Given the description of an element on the screen output the (x, y) to click on. 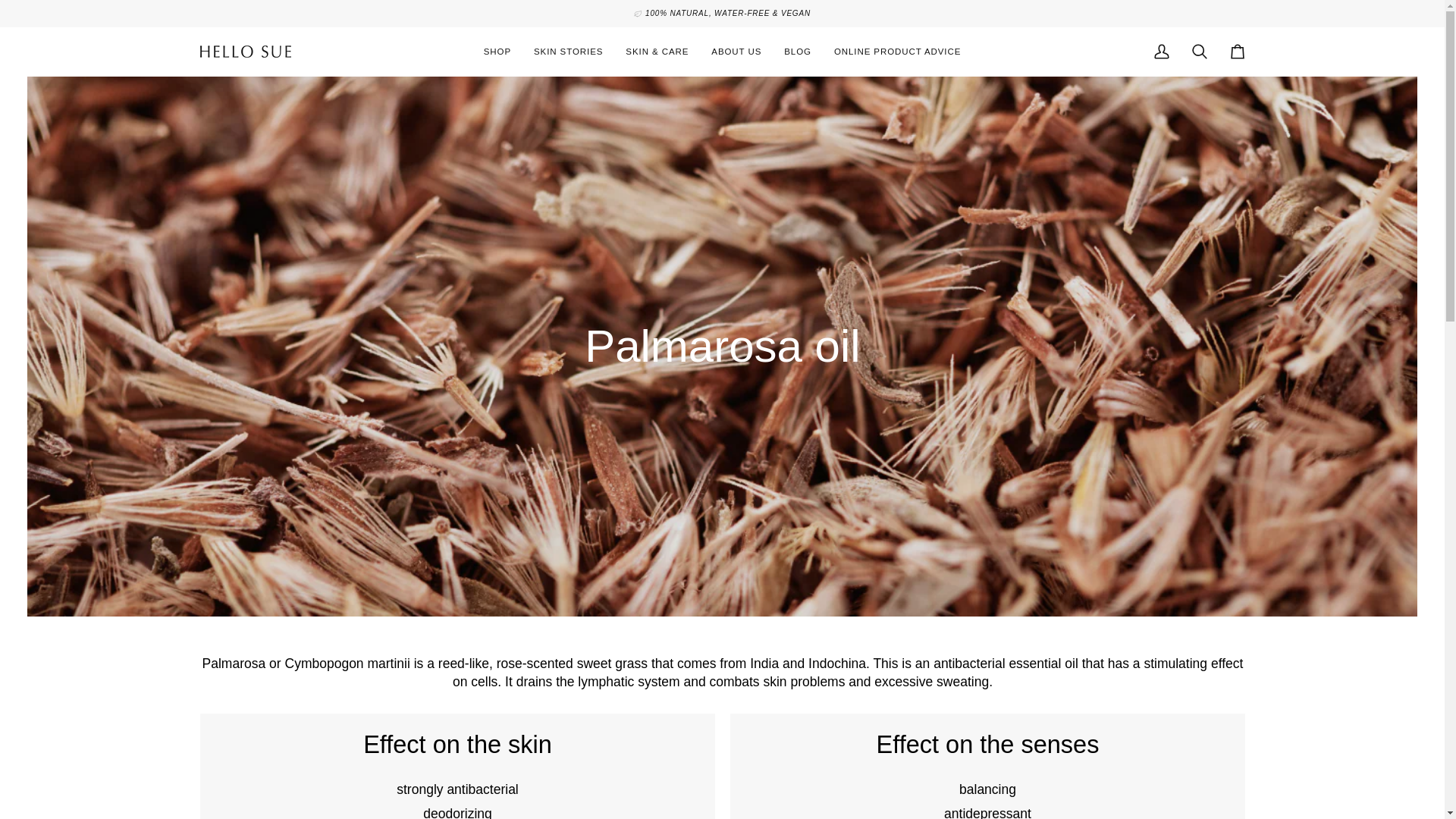
BLOG (797, 51)
ONLINE PRODUCT ADVICE (897, 51)
ABOUT US (736, 51)
SHOP (496, 51)
SKIN STORIES (568, 51)
